Given the description of an element on the screen output the (x, y) to click on. 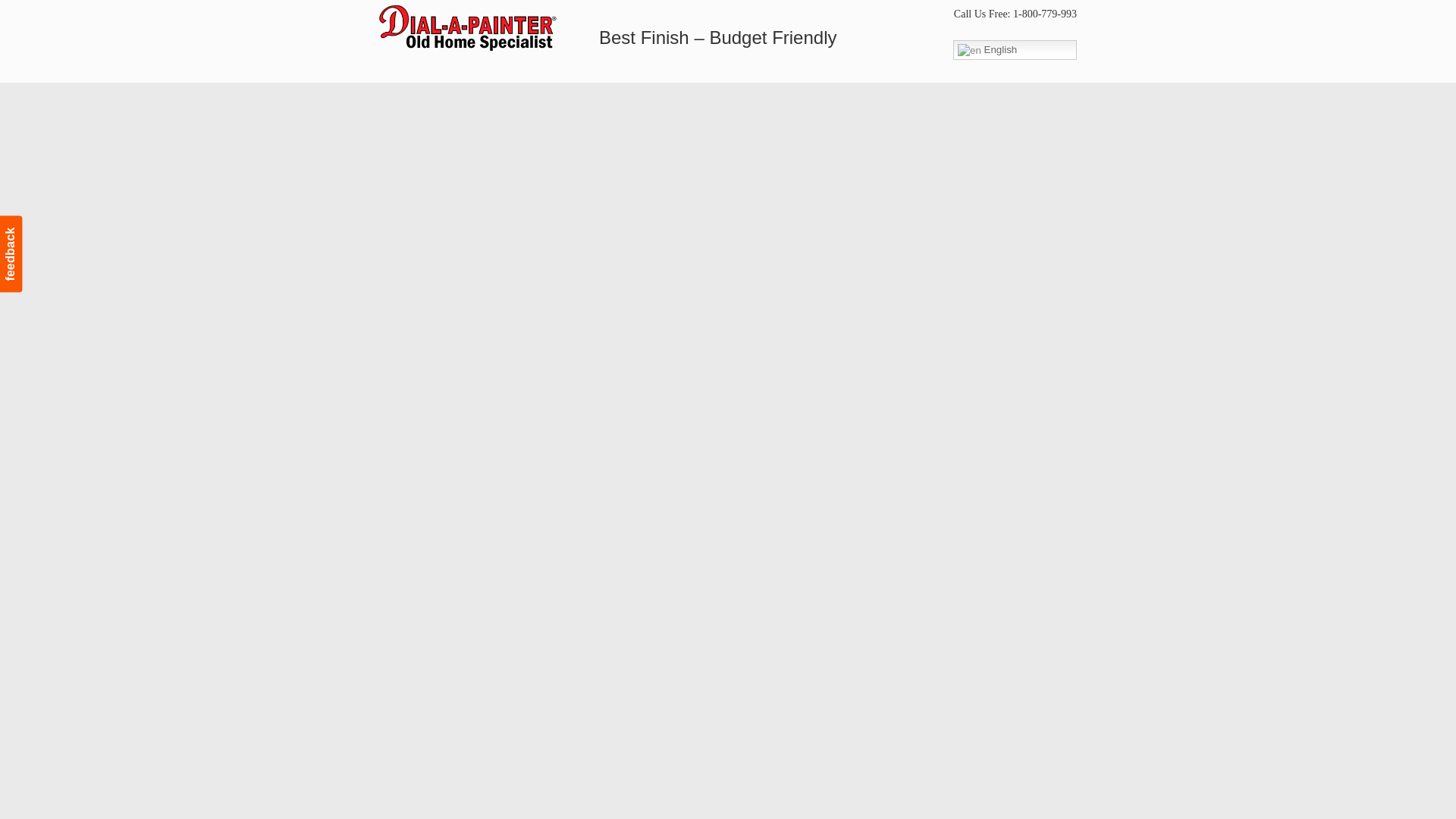
feedback (37, 227)
English (1015, 49)
House Painters Sydney Inner West (467, 27)
House Painters Sydney Inner West (467, 27)
